Given the description of an element on the screen output the (x, y) to click on. 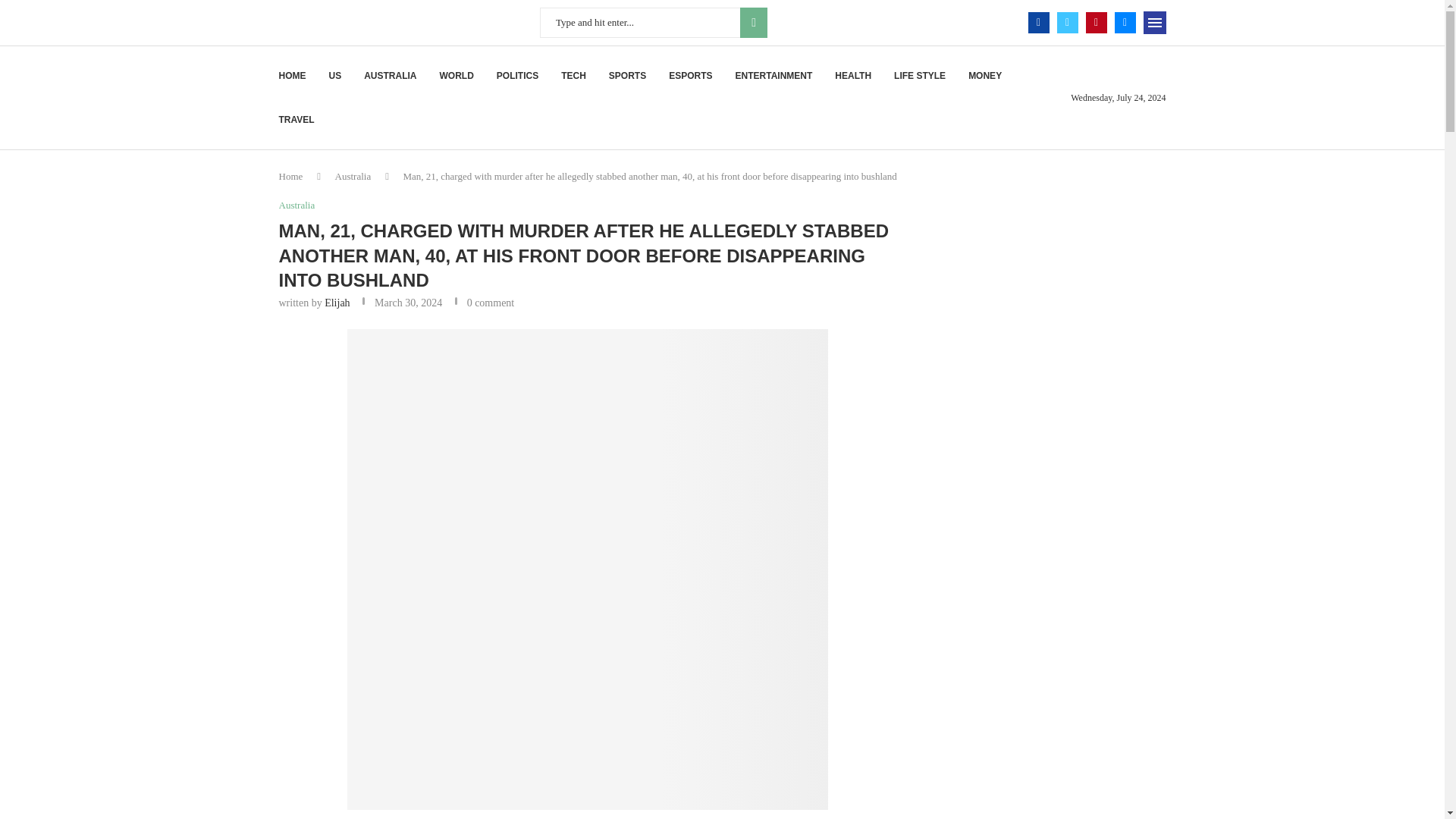
SEARCH (753, 22)
HEALTH (852, 75)
US (335, 75)
POLITICS (517, 75)
WORLD (456, 75)
AUSTRALIA (390, 75)
MONEY (984, 75)
TECH (573, 75)
ESPORTS (689, 75)
ENTERTAINMENT (773, 75)
TRAVEL (296, 119)
HOME (292, 75)
LIFE STYLE (918, 75)
SPORTS (627, 75)
